Given the description of an element on the screen output the (x, y) to click on. 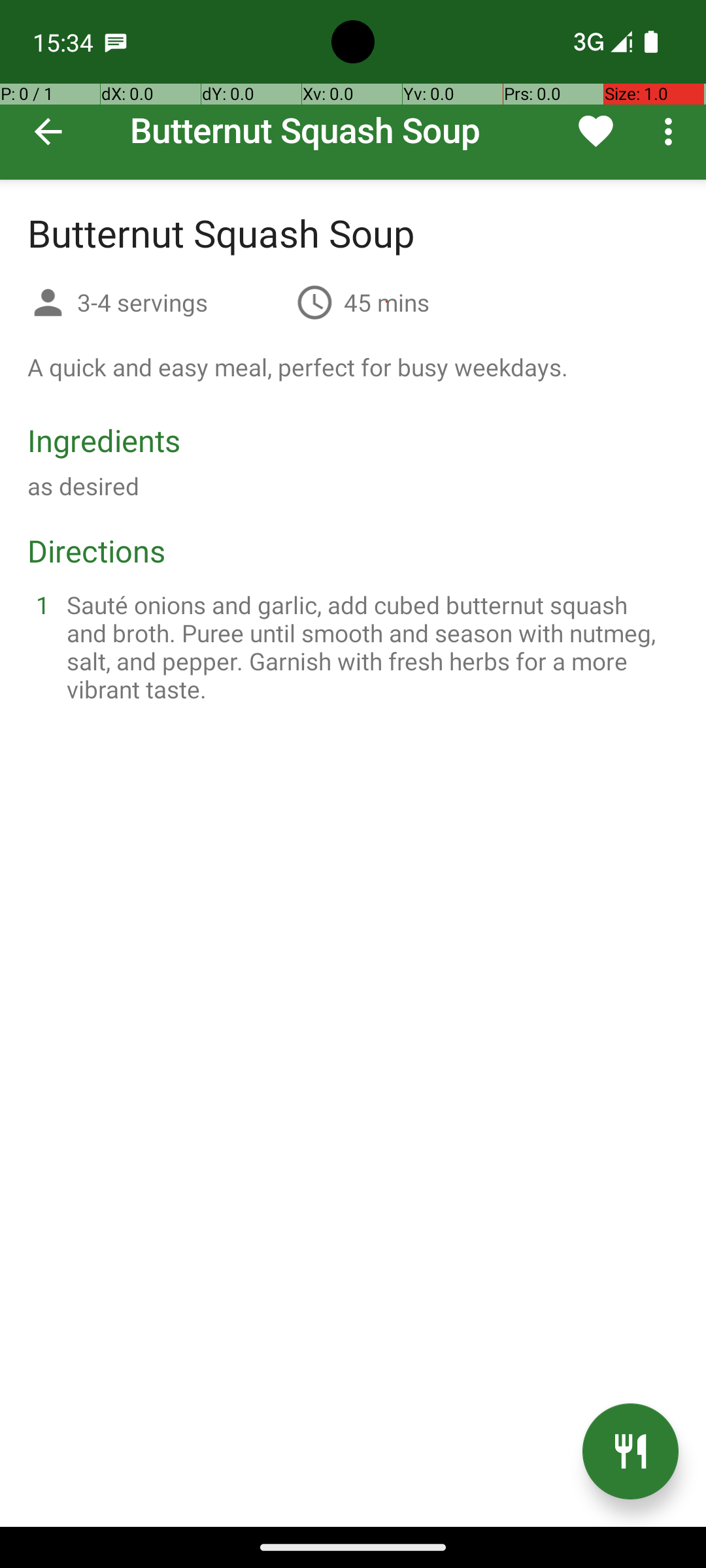
as desired Element type: android.widget.TextView (83, 485)
Sauté onions and garlic, add cubed butternut squash and broth. Puree until smooth and season with nutmeg, salt, and pepper. Garnish with fresh herbs for a more vibrant taste. Element type: android.widget.TextView (368, 646)
